Given the description of an element on the screen output the (x, y) to click on. 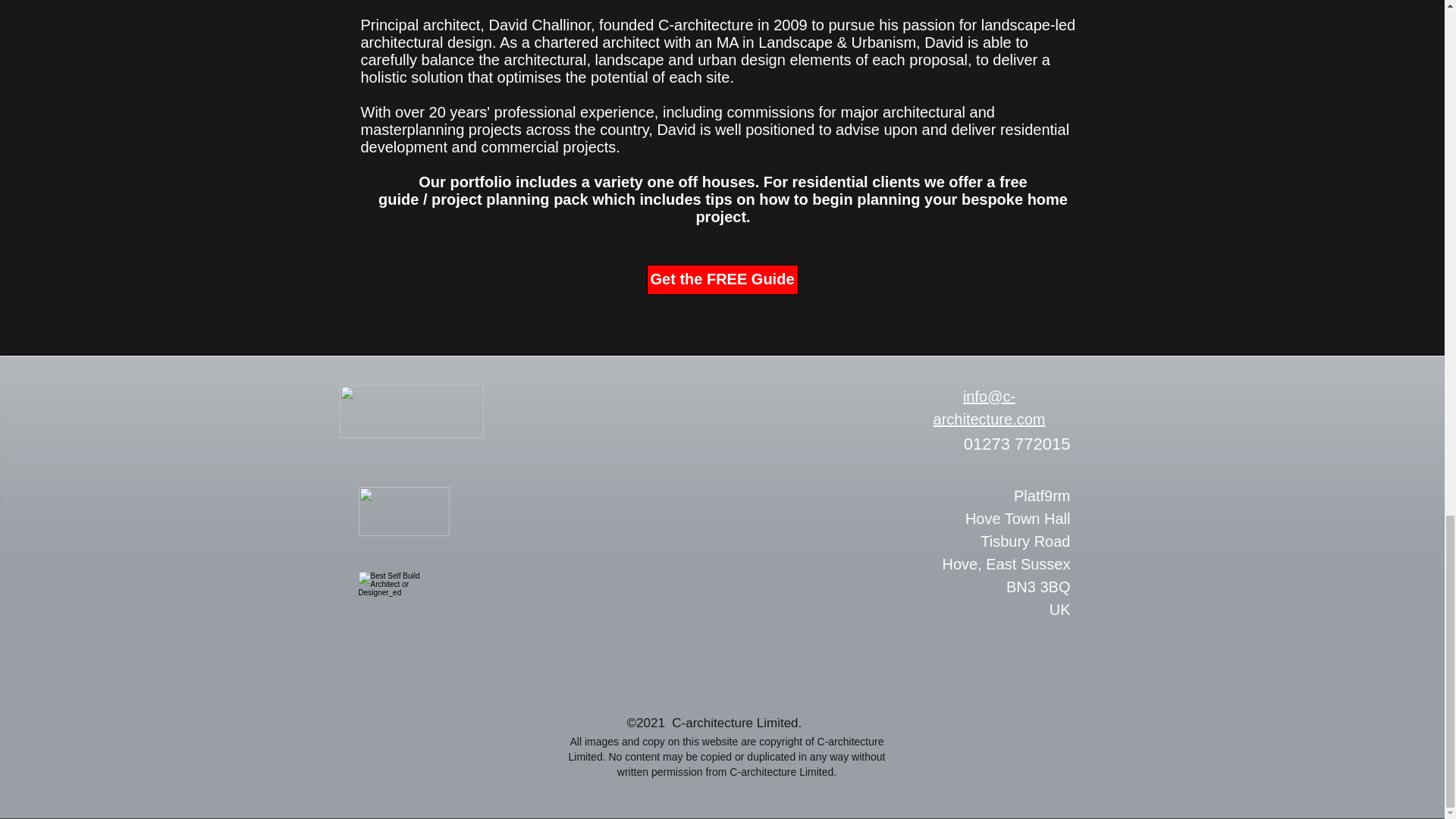
Tisbury Road (1024, 541)
Hove Town Hall (1017, 518)
Get the FREE Guide (721, 279)
Platf9rm (1006, 575)
